Given the description of an element on the screen output the (x, y) to click on. 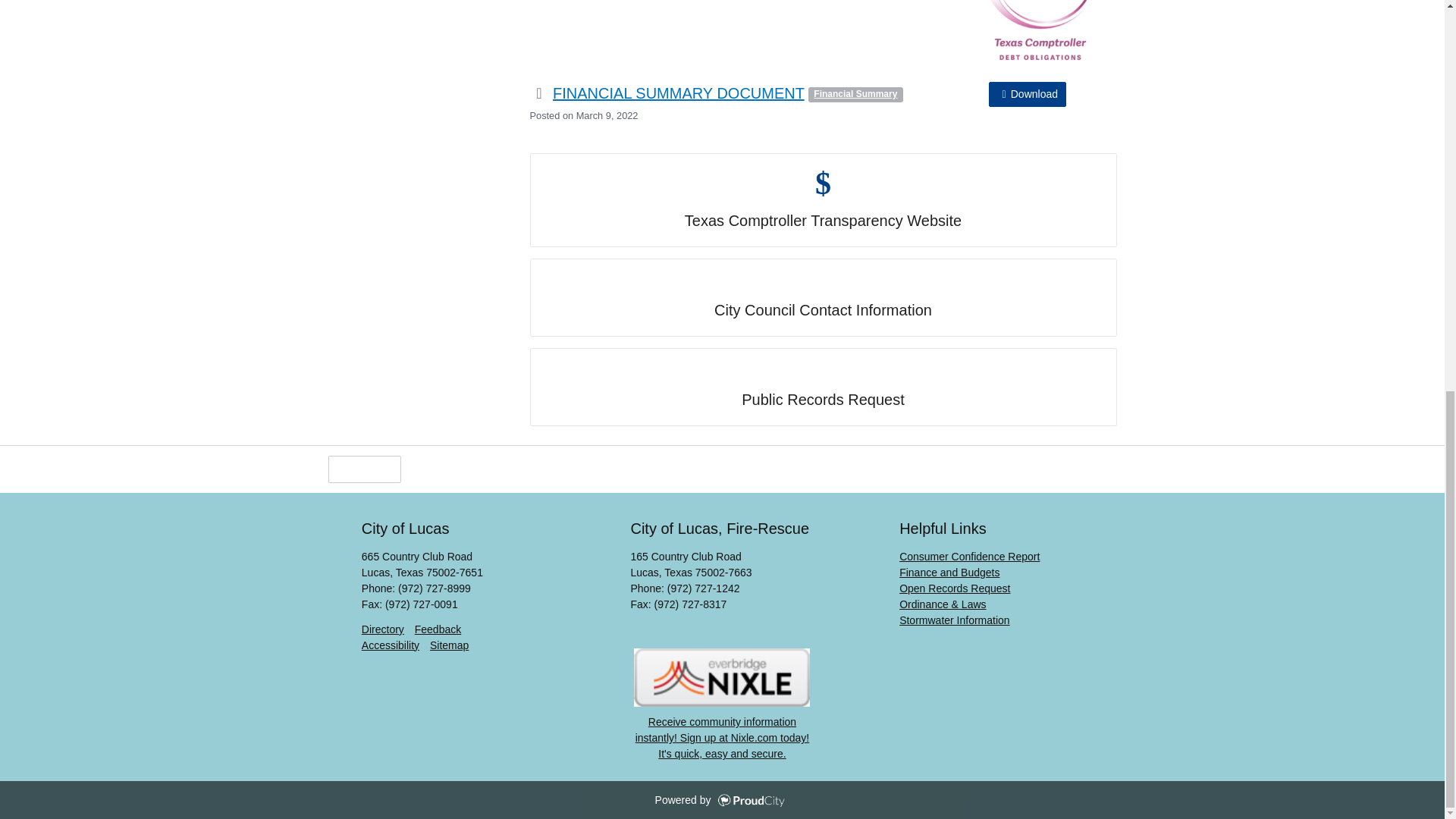
Download (1026, 94)
Public Records Request (822, 386)
Size (504, 469)
Financial Summary (855, 94)
Helpful (364, 469)
Share (436, 469)
City Council Contact Information (822, 297)
Texas Comptroller Transparency Website (822, 200)
FINANCIAL SUMMARY DOCUMENT (679, 93)
